Given the description of an element on the screen output the (x, y) to click on. 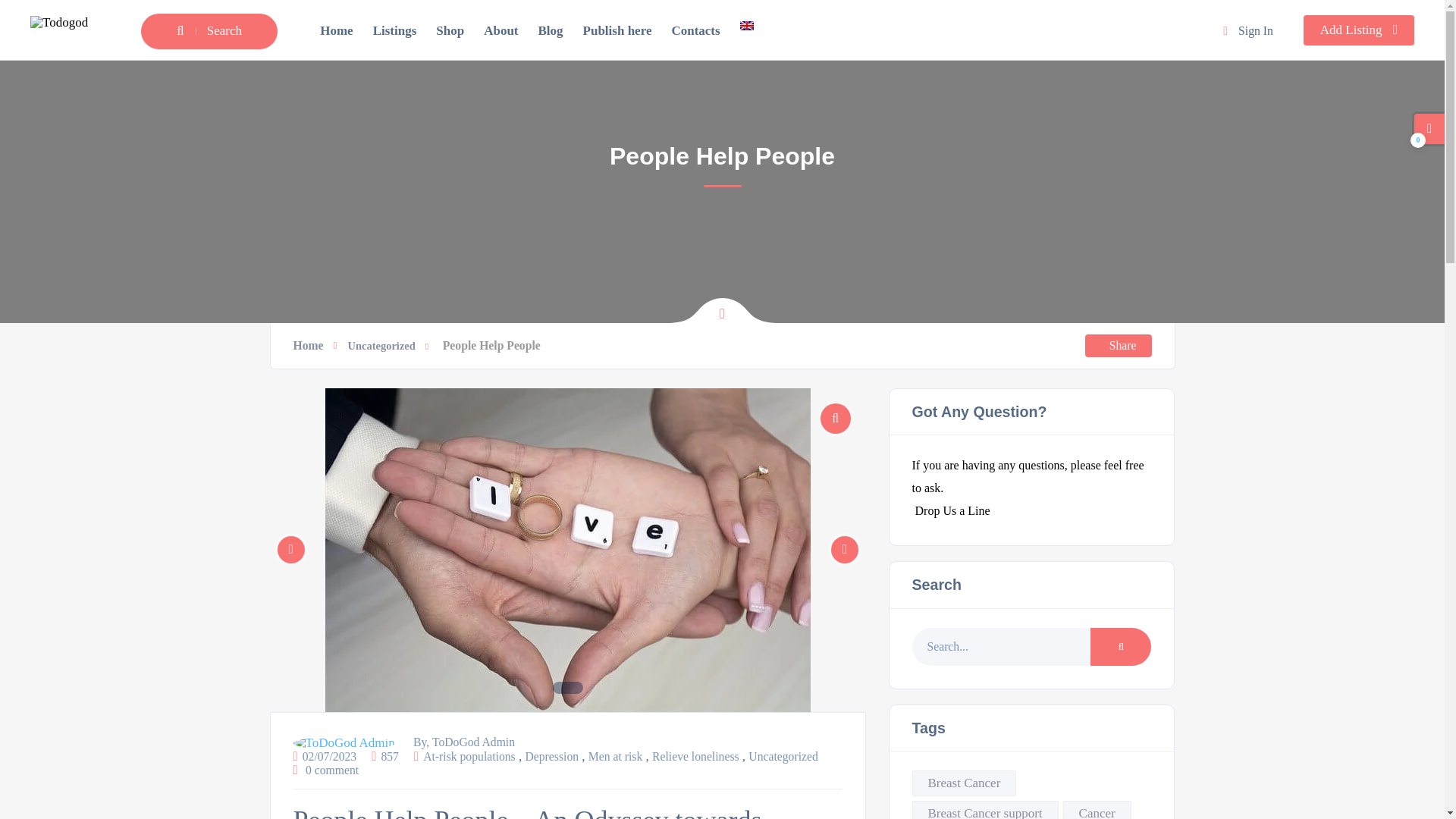
By, ToDoGod Admin (403, 742)
Depression (551, 756)
Relieve loneliness (695, 756)
Shop (449, 30)
Blog (550, 30)
Contacts (694, 30)
Publish here (617, 30)
Home (336, 30)
Sign In (1247, 30)
Home (313, 345)
About (500, 30)
At-risk populations (469, 756)
Breast Cancer (963, 783)
Drop Us a Line (950, 510)
Listings (395, 30)
